Given the description of an element on the screen output the (x, y) to click on. 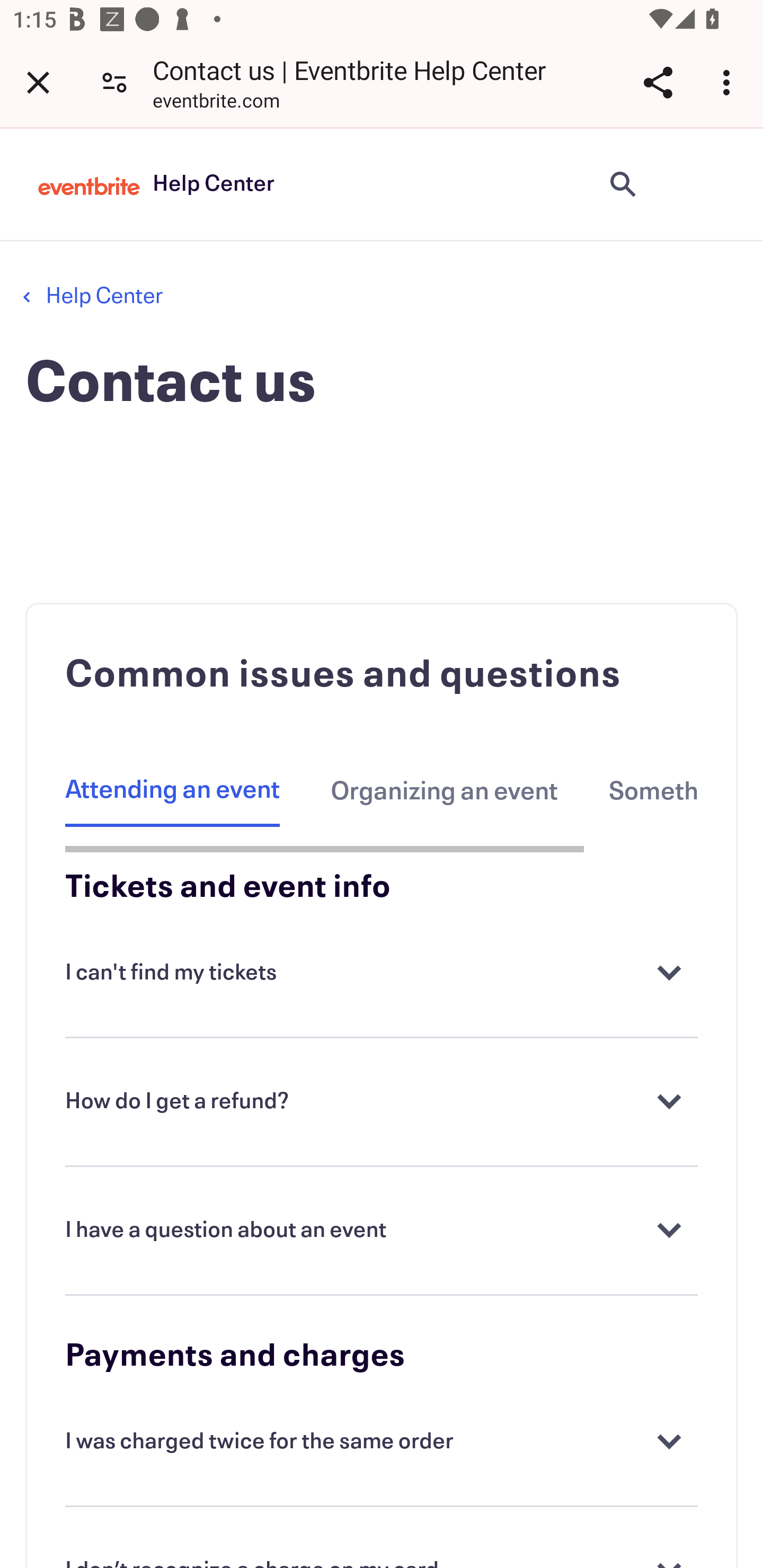
Close tab (38, 82)
Share (657, 82)
Customize and control Google Chrome (729, 82)
Connection is secure (114, 81)
eventbrite.com (216, 103)
Eventbrite Help Center Eventbrite logo Help Center (156, 184)
Attending an event (172, 791)
Organizing an event (443, 791)
Something else (652, 791)
I can't find my tickets (381, 973)
How do I get a refund? (381, 1102)
I have a question about an event (381, 1230)
I was charged twice for the same order (381, 1442)
